Given the description of an element on the screen output the (x, y) to click on. 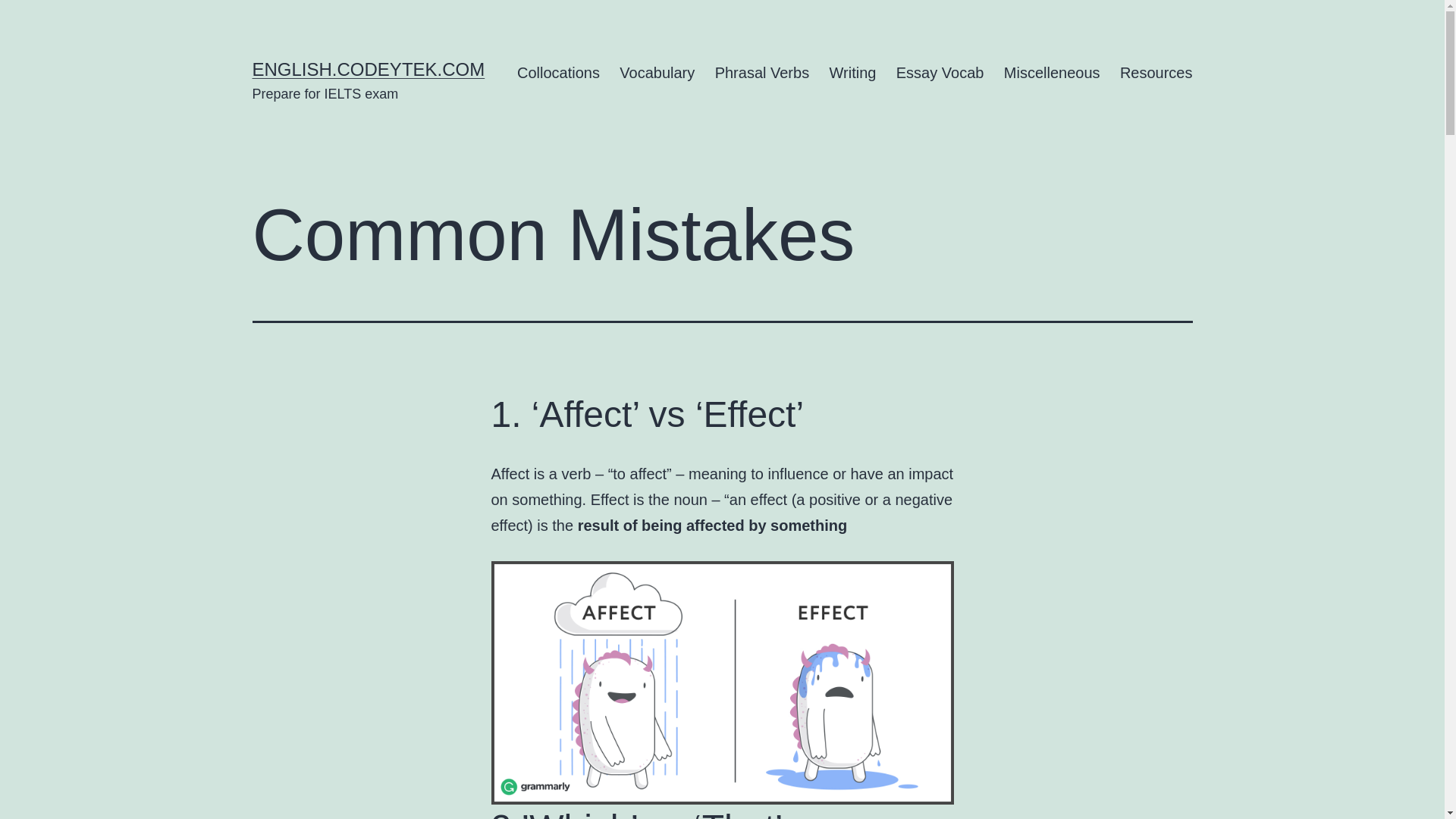
Resources (1155, 72)
Writing (851, 72)
ENGLISH.CODEYTEK.COM (367, 68)
Vocabulary (657, 72)
Phrasal Verbs (761, 72)
Essay Vocab (940, 72)
Collocations (558, 72)
Miscelleneous (1051, 72)
